Given the description of an element on the screen output the (x, y) to click on. 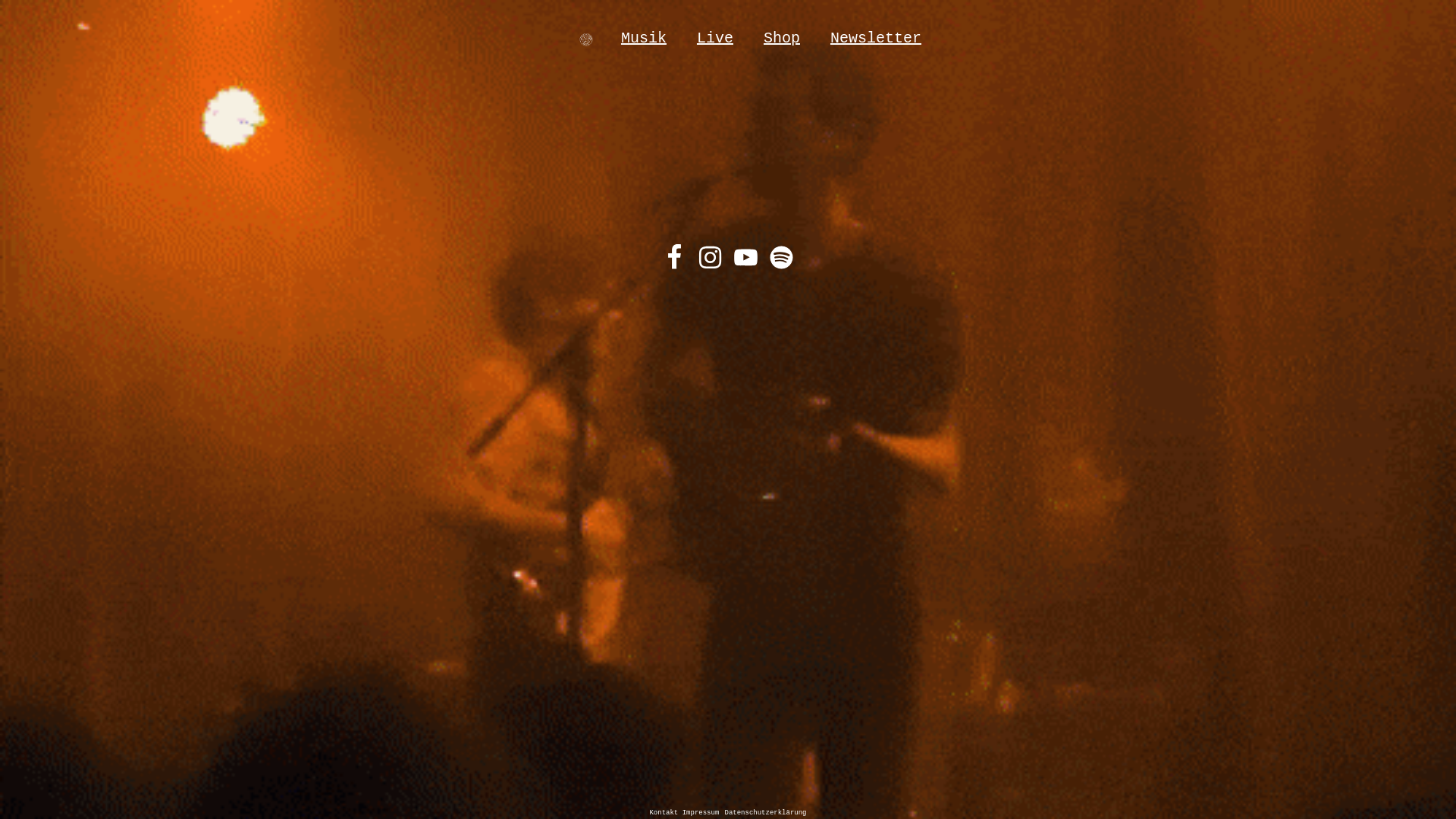
Newsletter Element type: text (875, 38)
Impressum Element type: text (700, 812)
Shop Element type: text (781, 38)
Kontakt Element type: text (665, 812)
Live Element type: text (714, 38)
Musik Element type: text (643, 38)
